Given the description of an element on the screen output the (x, y) to click on. 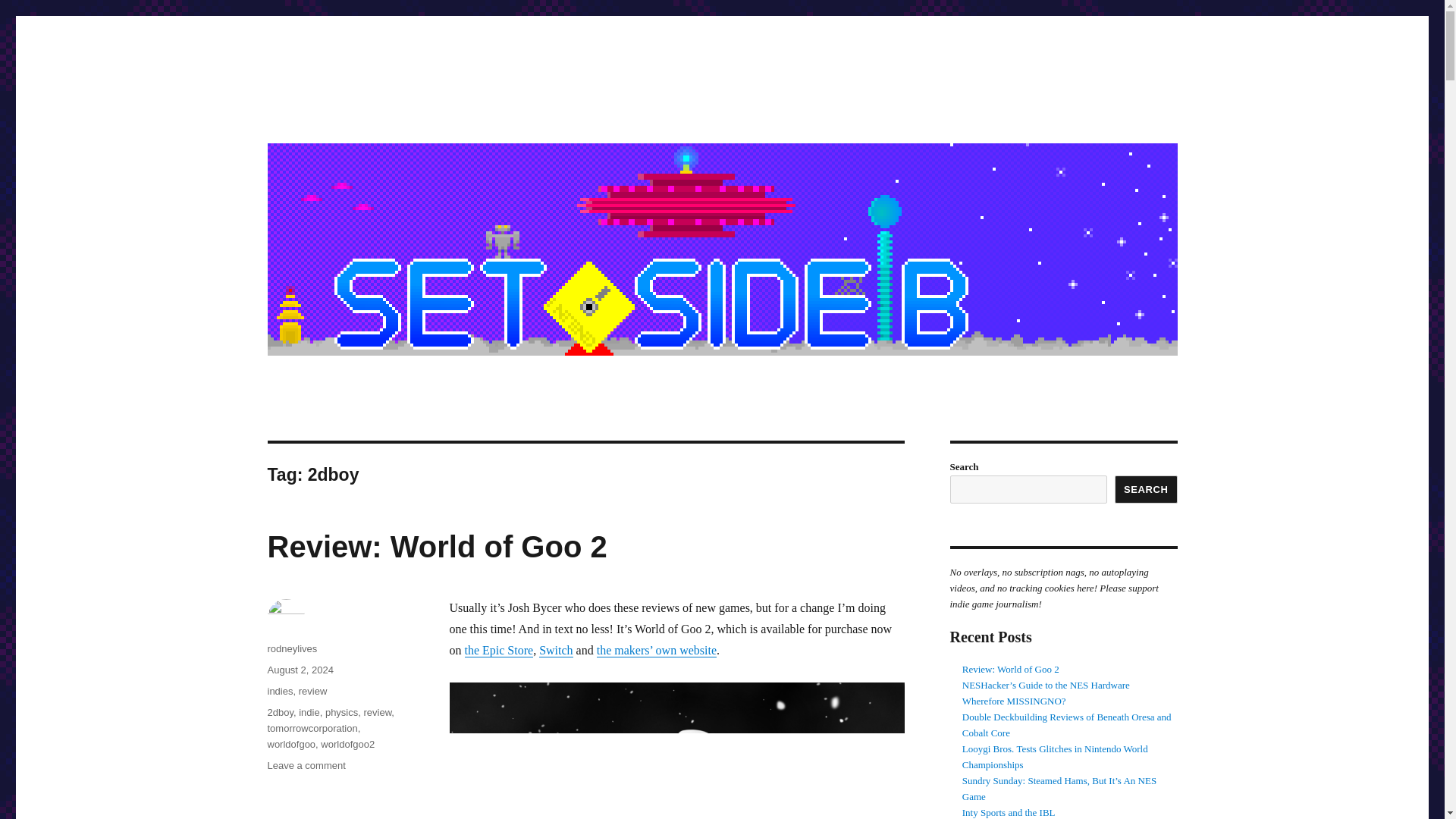
rodneylives (291, 648)
review (305, 765)
worldofgoo (312, 690)
2dboy (290, 744)
indies (279, 712)
the Epic Store (279, 690)
physics (498, 649)
Set Side B (341, 712)
Switch (318, 114)
